Given the description of an element on the screen output the (x, y) to click on. 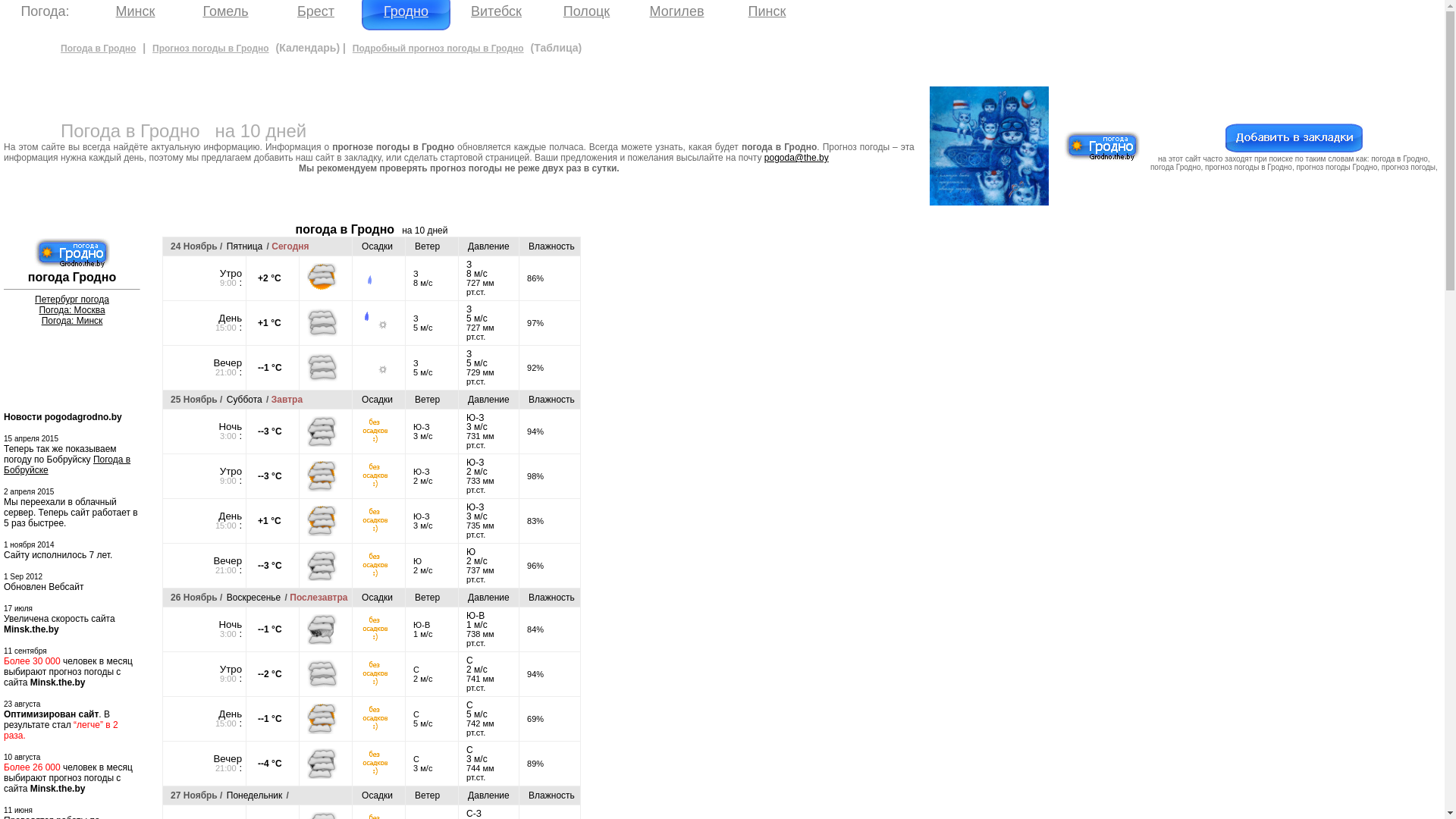
Advertisement Element type: hover (663, 449)
pogoda@the.by Element type: text (796, 157)
